Given the description of an element on the screen output the (x, y) to click on. 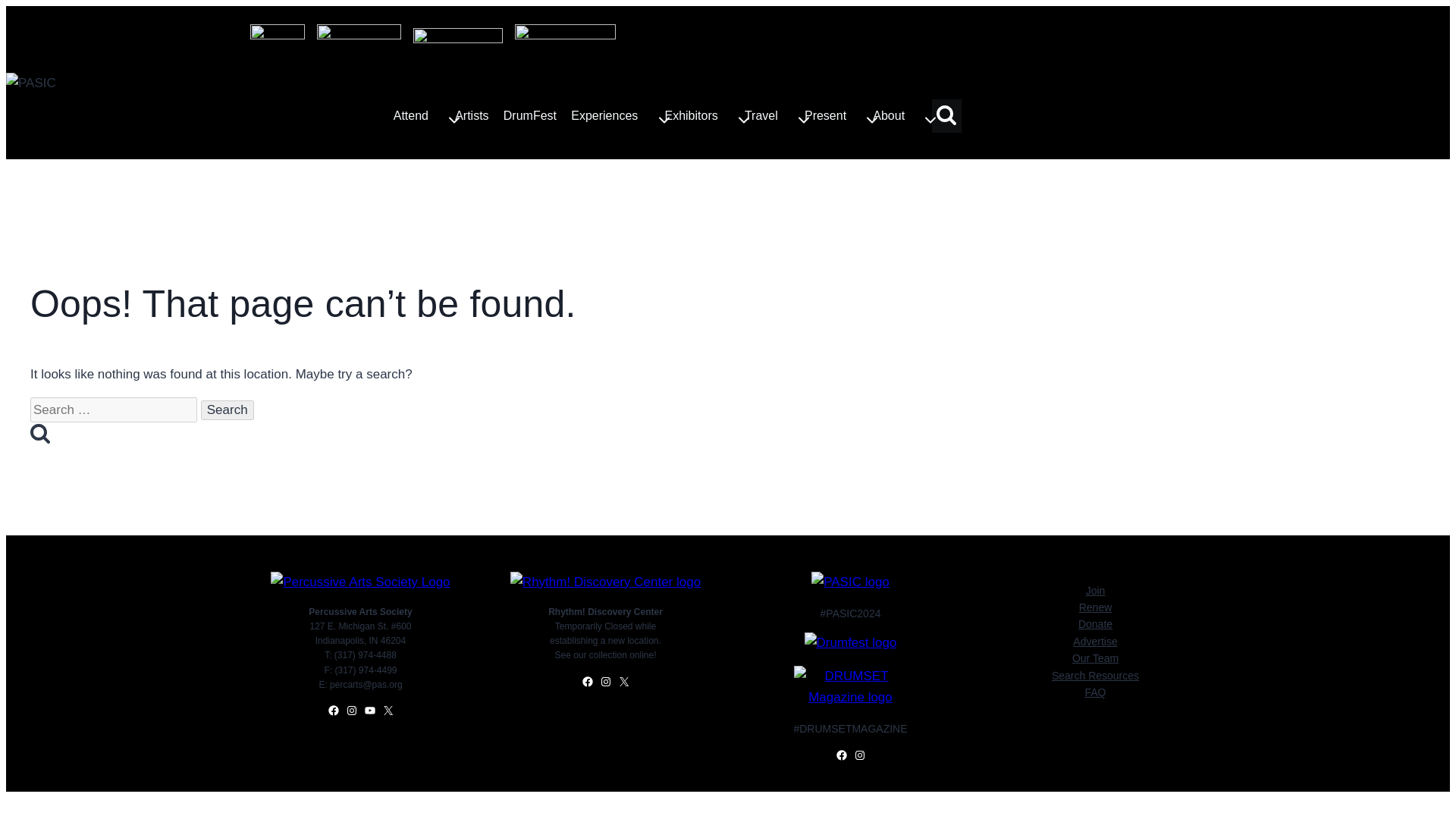
Expand (930, 120)
Search (946, 114)
Expand (743, 120)
Expand (773, 116)
Expand (424, 116)
Skip to content (705, 116)
Artists (454, 120)
